Given the description of an element on the screen output the (x, y) to click on. 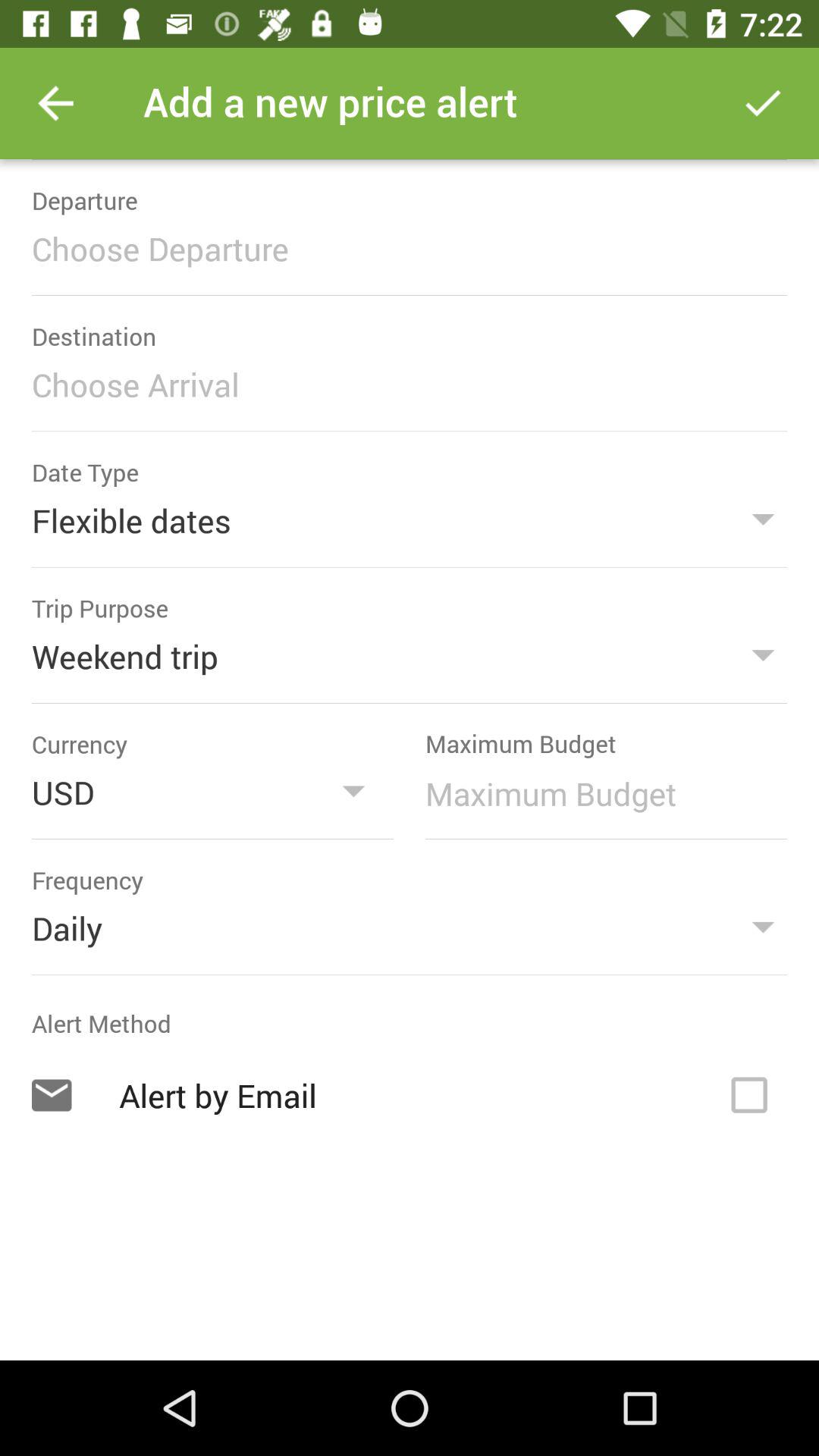
return to previous page (55, 103)
